Given the description of an element on the screen output the (x, y) to click on. 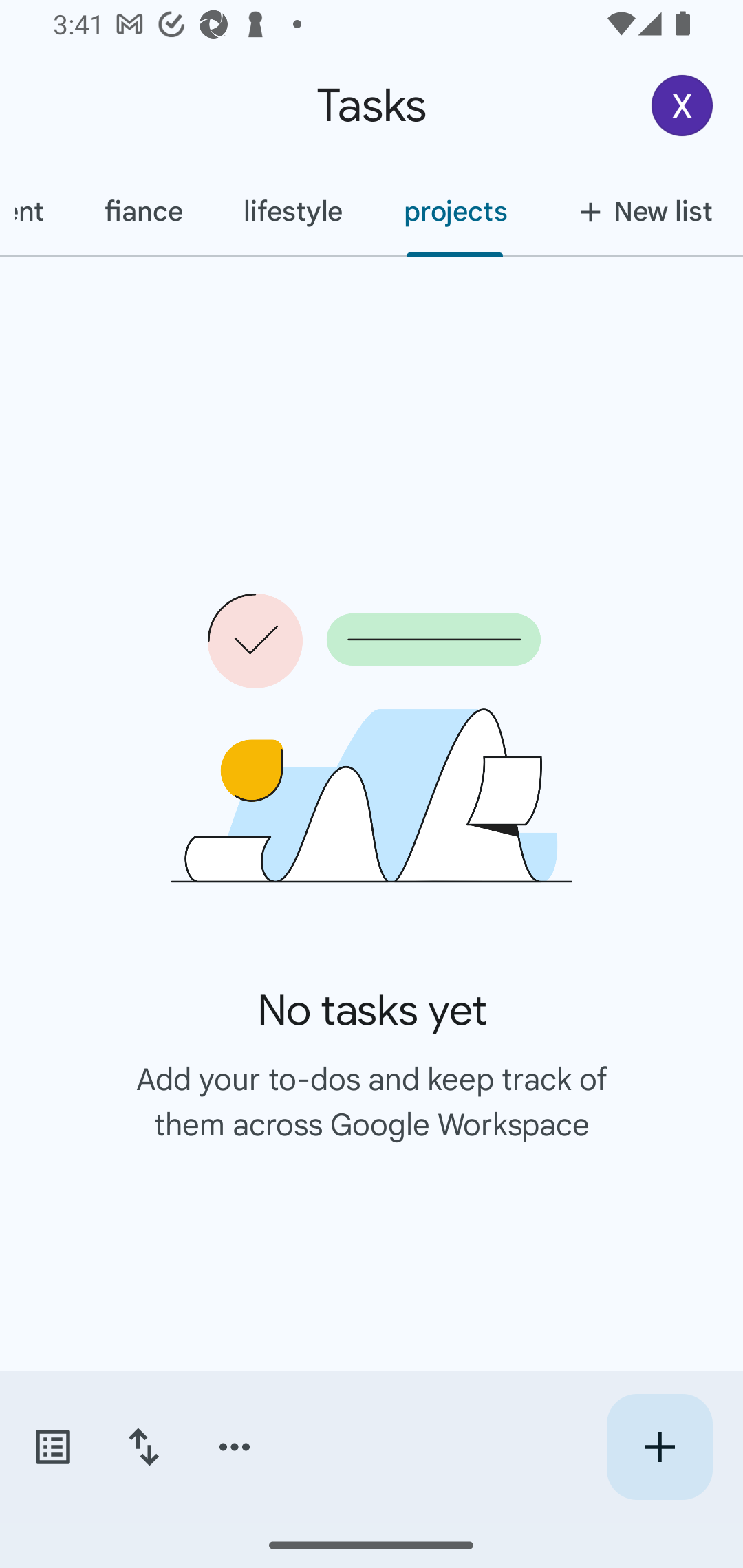
fiance (142, 211)
lifestyle (292, 211)
New list (640, 211)
Switch task lists (52, 1447)
Create new task (659, 1446)
Change sort order (143, 1446)
More options (234, 1446)
